Given the description of an element on the screen output the (x, y) to click on. 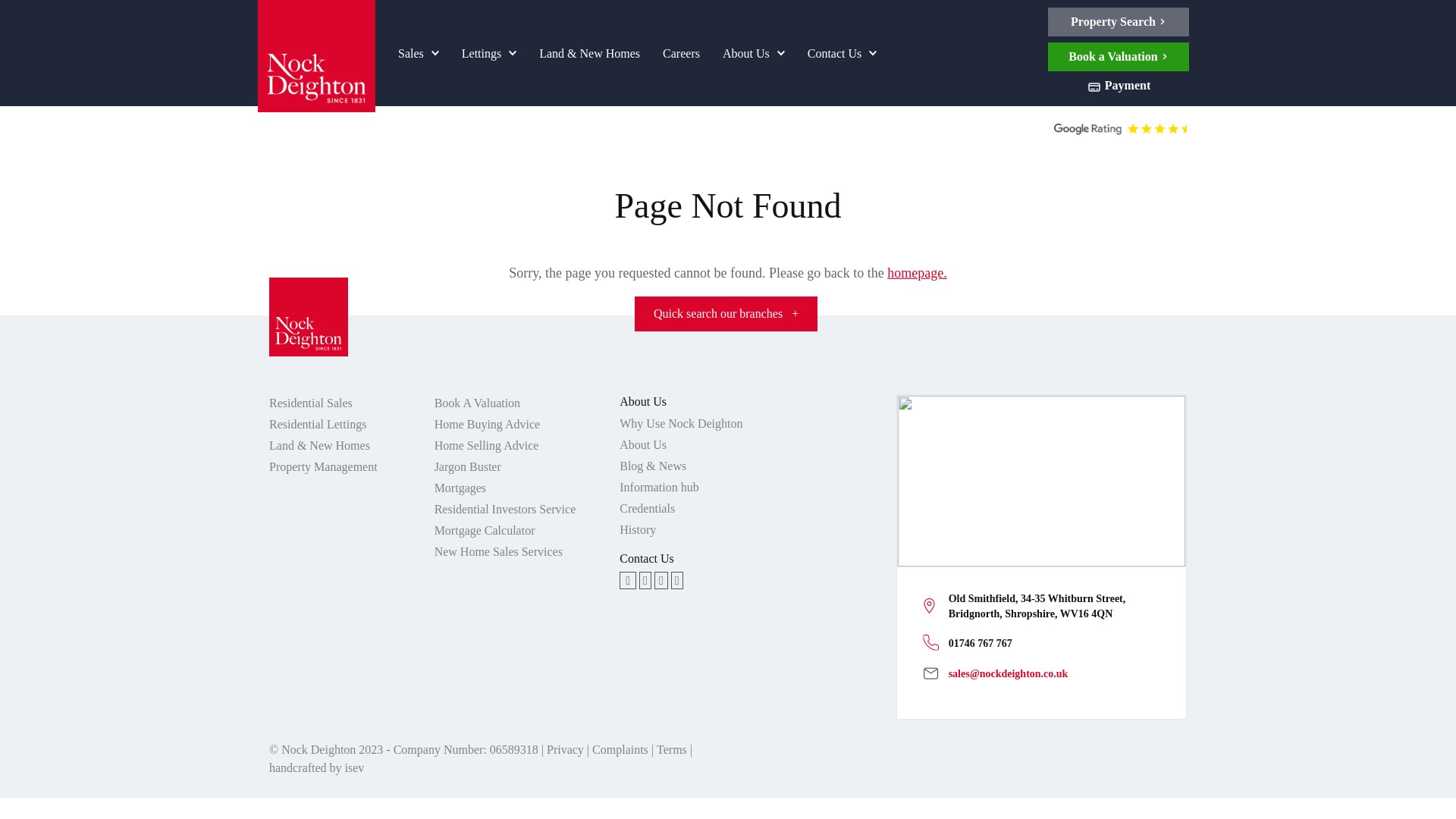
Sales (418, 52)
Contact Us (842, 52)
Lettings (488, 52)
Careers (680, 52)
About Us (753, 52)
Property Search (1118, 21)
Blog (628, 579)
